Given the description of an element on the screen output the (x, y) to click on. 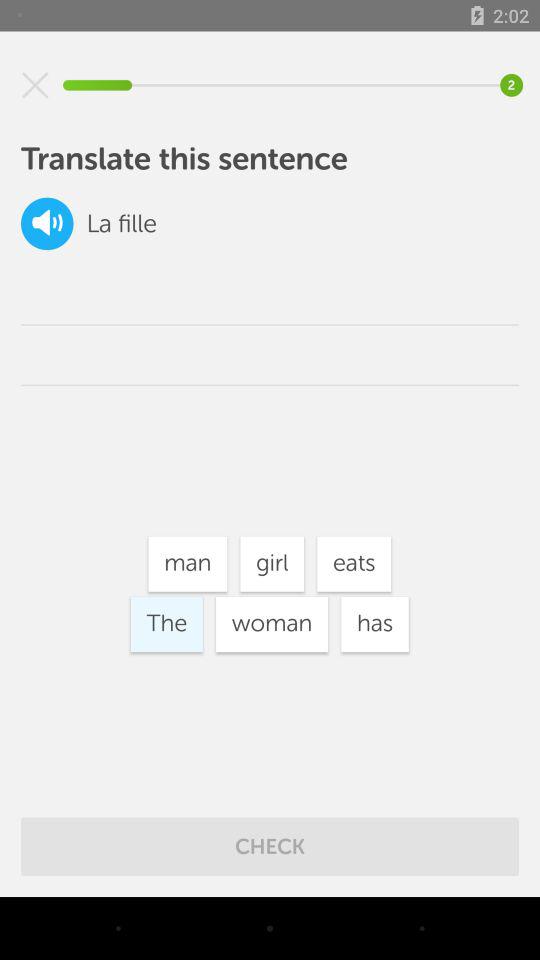
swipe until fille icon (137, 223)
